Given the description of an element on the screen output the (x, y) to click on. 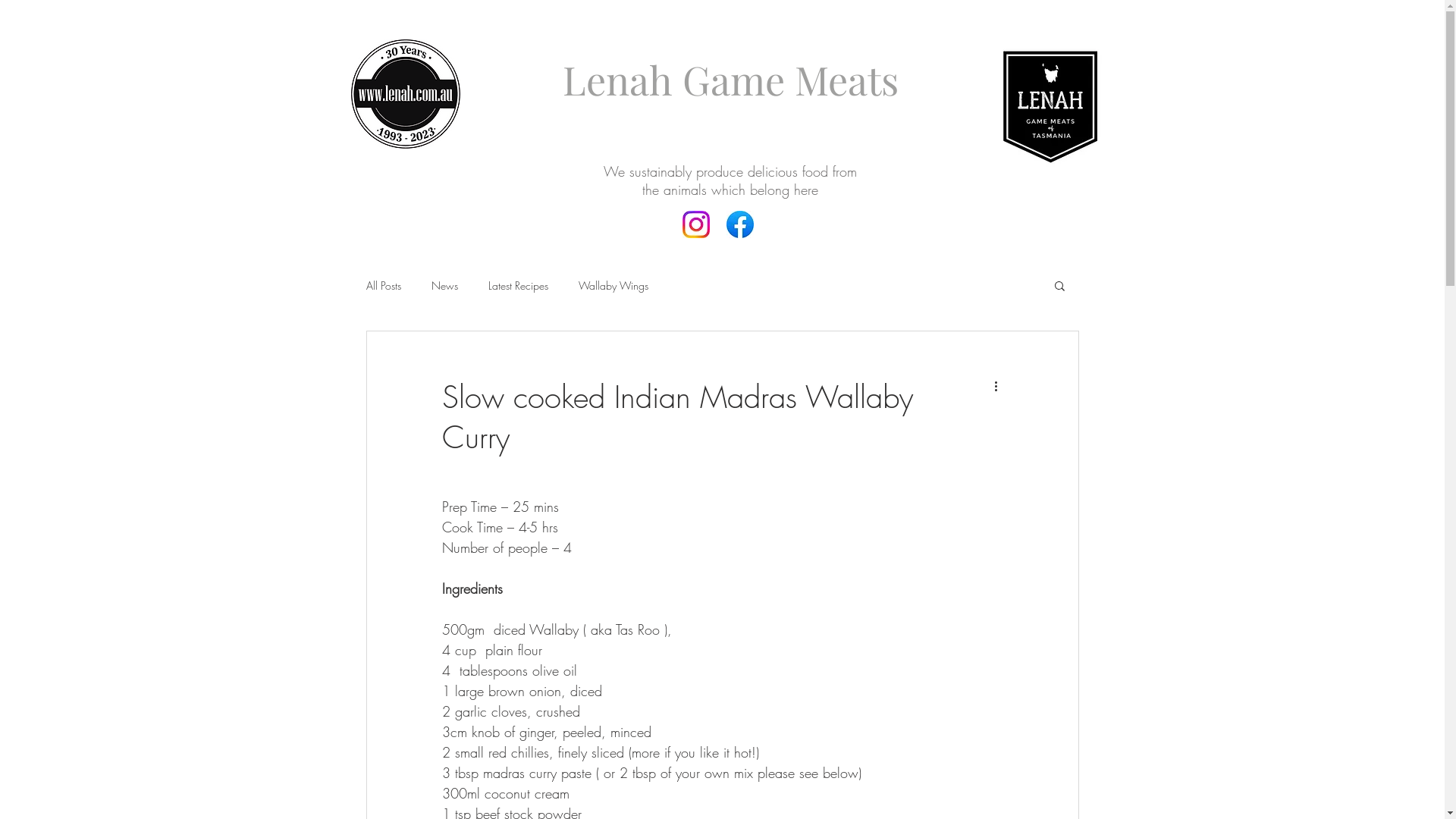
All Posts Element type: text (382, 284)
Facebook Element type: hover (695, 224)
Restaurant Social Bar Element type: hover (714, 238)
Wallaby Wings Element type: text (612, 284)
News Element type: text (443, 284)
Back to Top Element type: hover (84, 35)
Facebook Element type: hover (739, 224)
Latest Recipes Element type: text (518, 284)
